Given the description of an element on the screen output the (x, y) to click on. 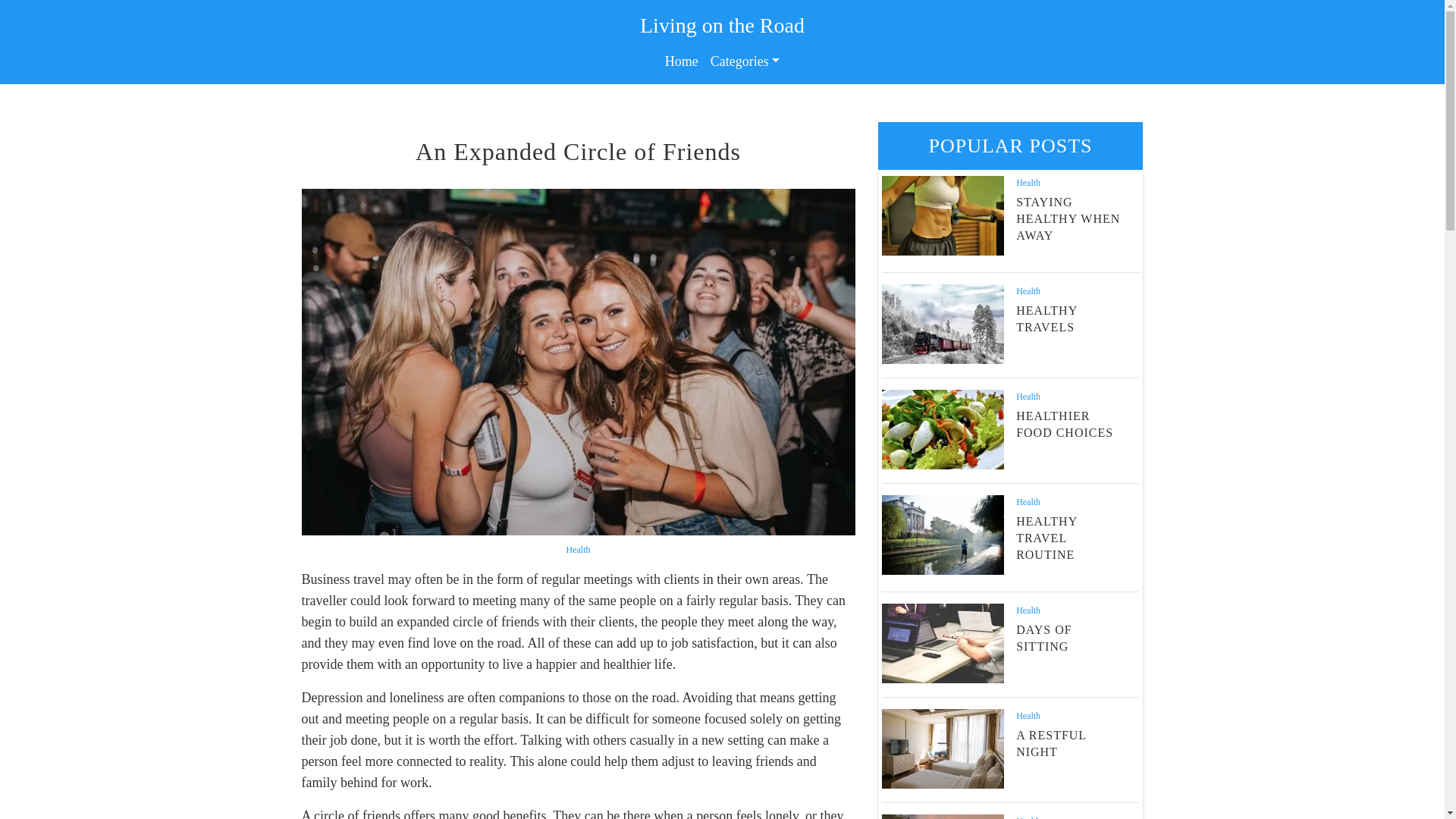
HEALTHIER FOOD CHOICES (1064, 423)
Health (1028, 290)
Health (577, 549)
DAYS OF SITTING (1043, 637)
Categories (745, 61)
Health (1028, 182)
Health (1028, 715)
Health (1028, 501)
Health (1028, 817)
HEALTHY TRAVELS (1046, 318)
